Given the description of an element on the screen output the (x, y) to click on. 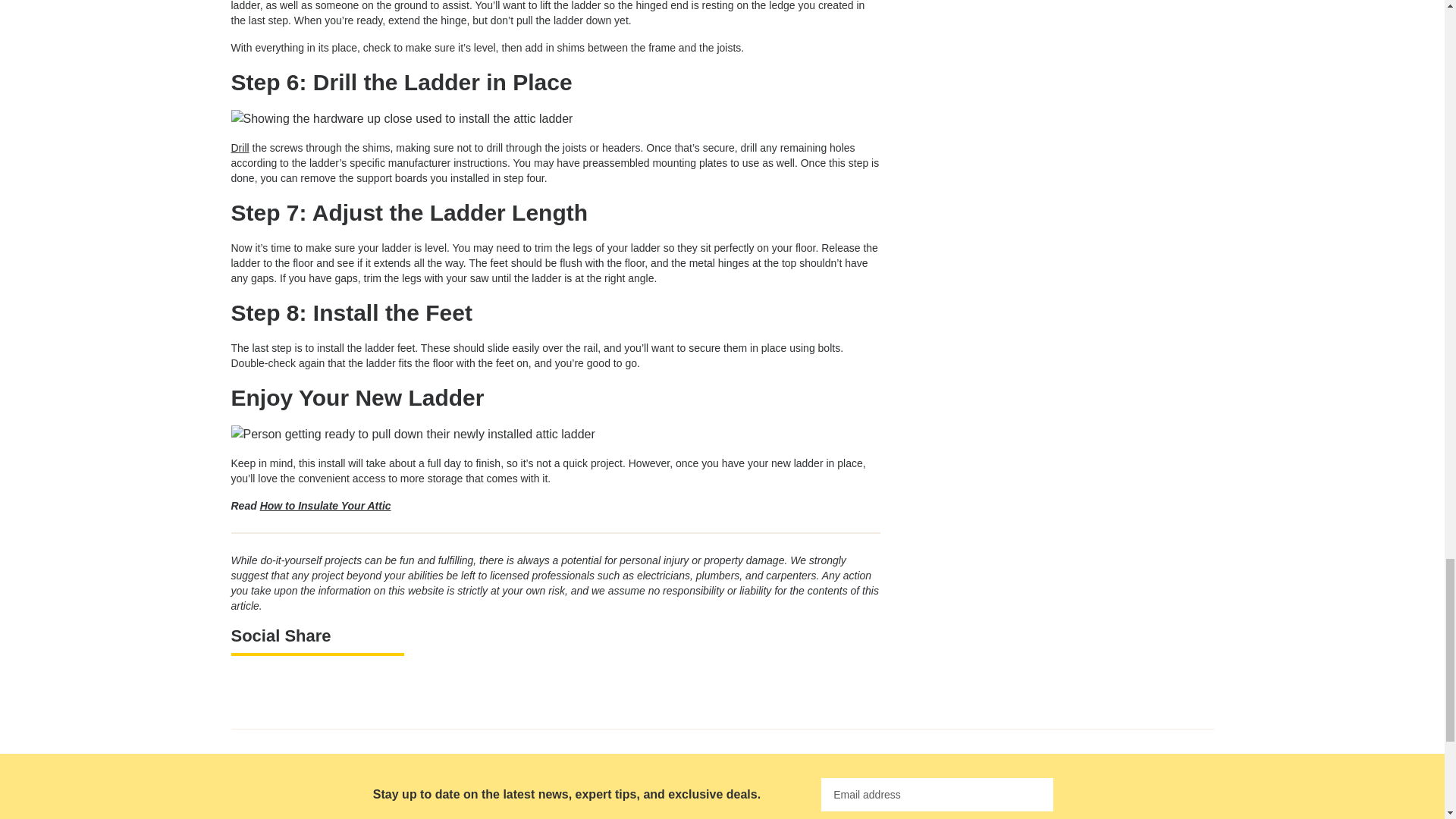
Drill (239, 147)
How to Insulate Your Attic (325, 505)
